Given the description of an element on the screen output the (x, y) to click on. 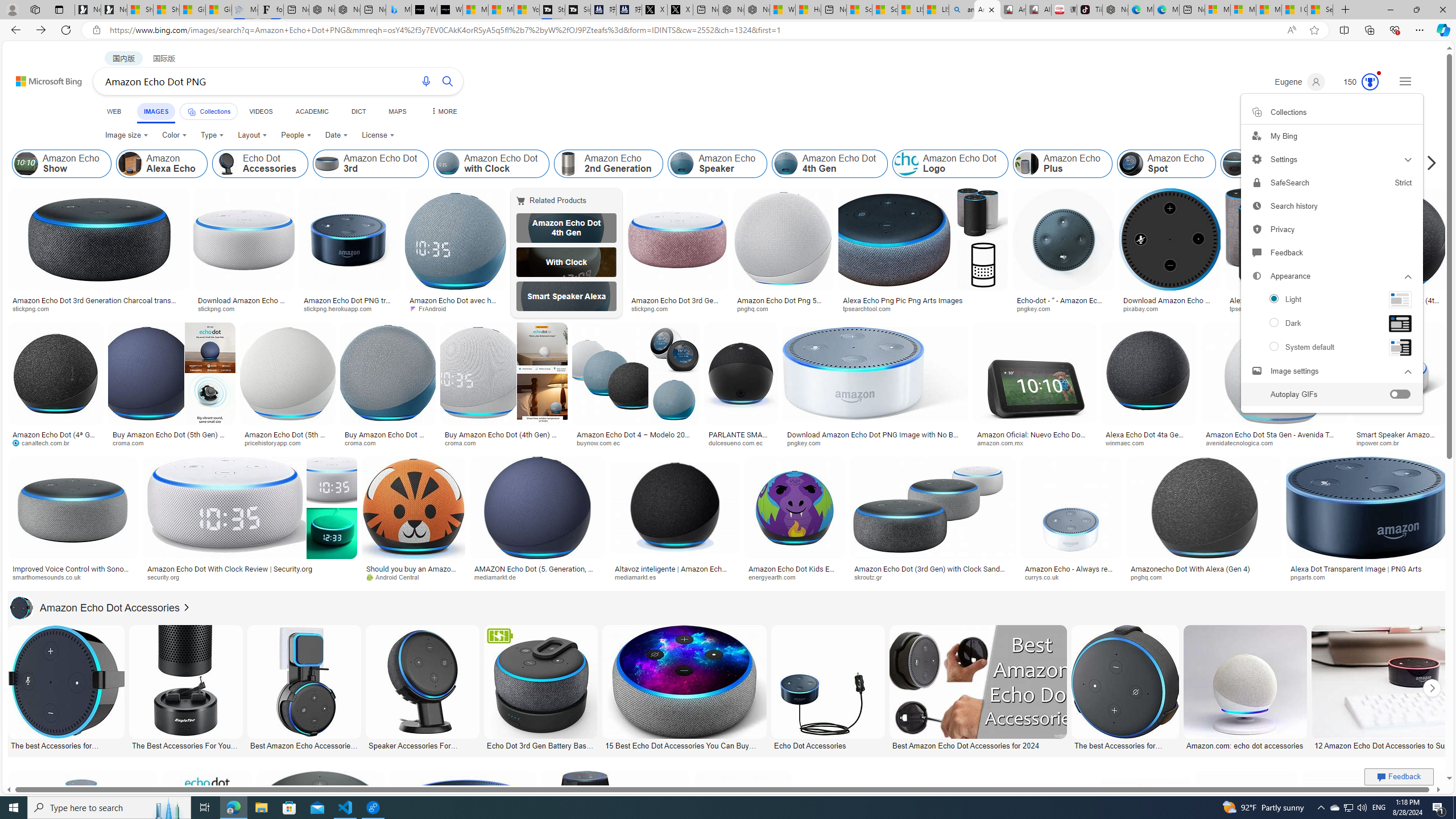
Amazon Echo Dot 3 (1235, 163)
Amazon Echo Dot Accessories (21, 607)
dulcesueno.com.ec (739, 442)
Amazon Echo Dot with Clock (490, 163)
